Given the description of an element on the screen output the (x, y) to click on. 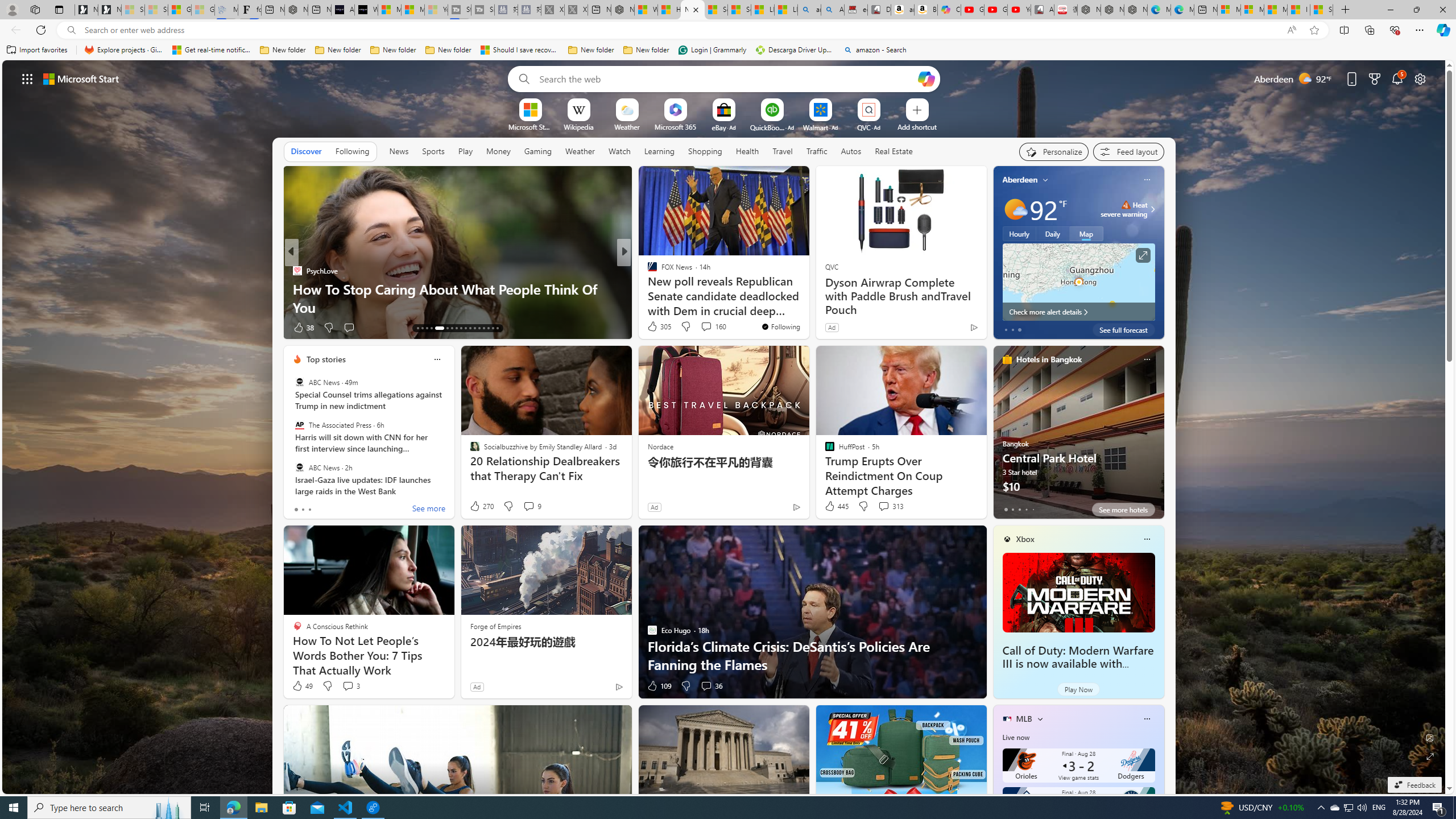
View comments 6 Comment (705, 327)
Nordace - My Account (622, 9)
MLB (1024, 718)
270 Like (480, 505)
AutomationID: tab-42 (492, 328)
Liron Segev (647, 288)
The Best Rowing Workout for Weight Loss (807, 307)
AutomationID: tab-22 (465, 328)
You're following FOX News (780, 326)
